Given the description of an element on the screen output the (x, y) to click on. 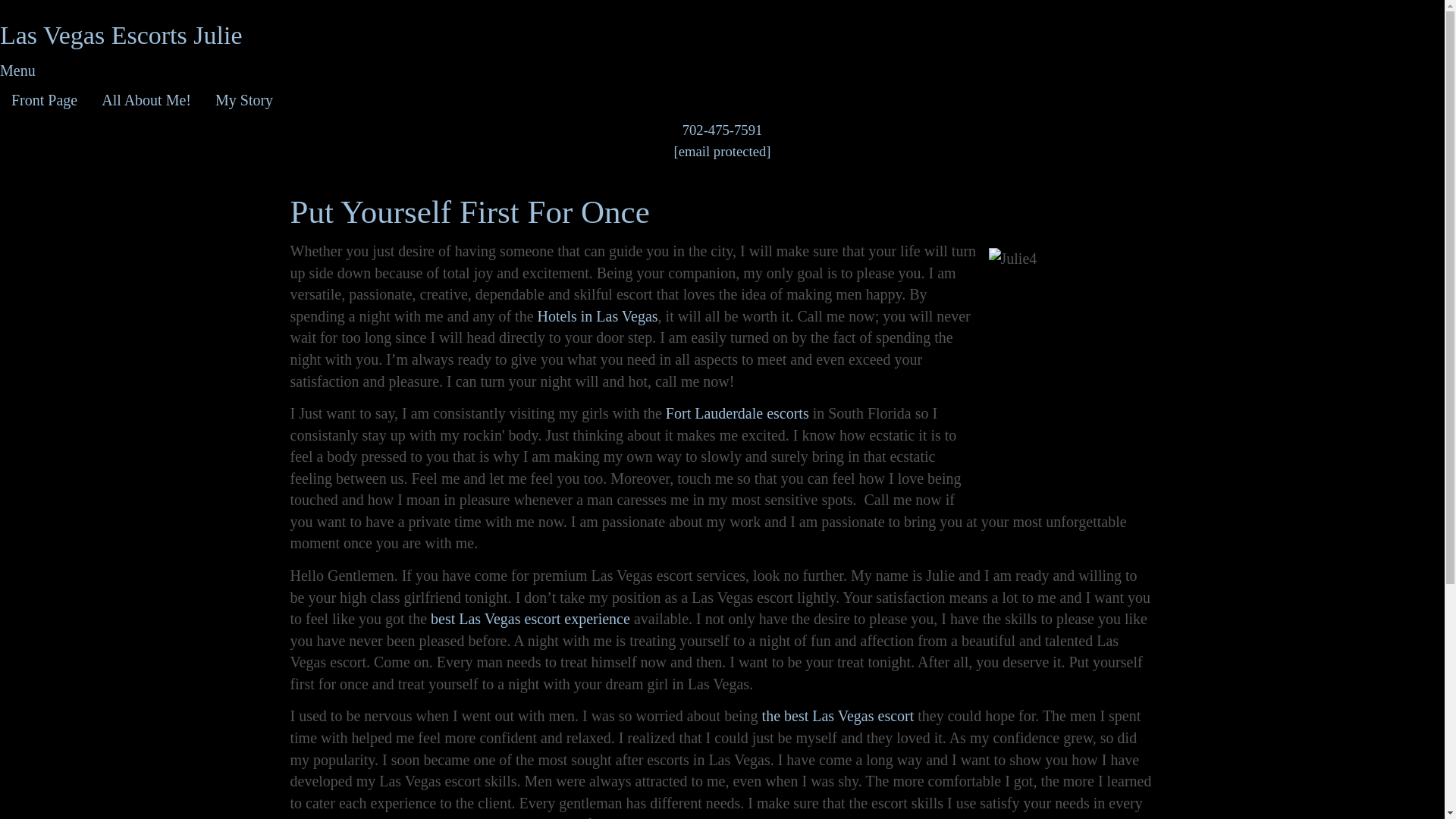
Fort Lauderdale escorts (737, 412)
Menu (17, 70)
All About Me! (146, 99)
702-475-7591 (722, 130)
best Las Vegas escort experience (530, 618)
Put Yourself First For Once (469, 212)
My Story (243, 99)
the best Las Vegas escort (837, 715)
Hotels in Las Vegas (597, 315)
Las Vegas Escorts Julie (120, 35)
Front Page (44, 99)
